Given the description of an element on the screen output the (x, y) to click on. 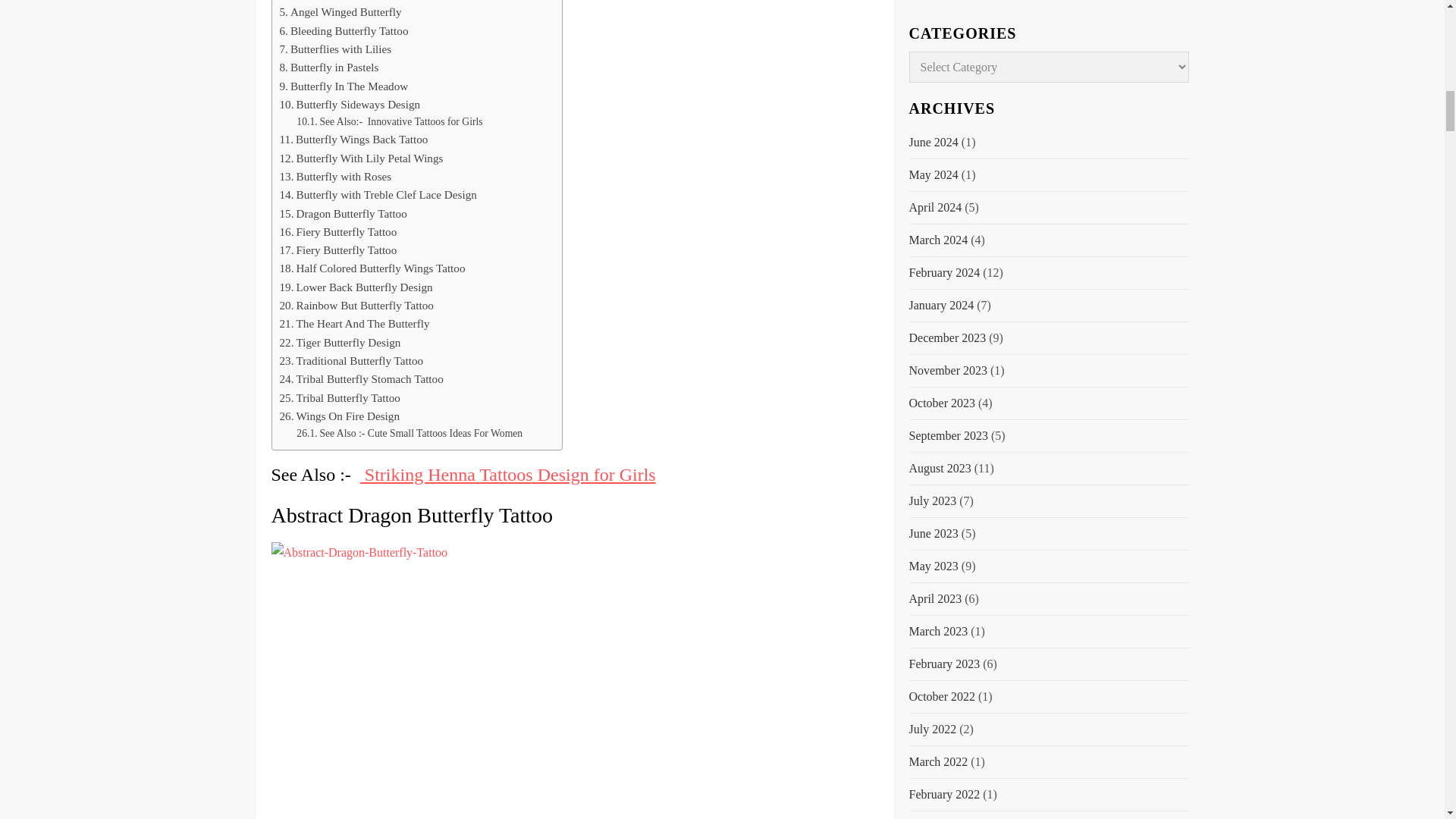
See Also:-  Innovative Tattoos for Girls (389, 121)
Wings On Fire Design (338, 416)
Angel Butterfly Design (338, 1)
The Heart And The Butterfly (354, 323)
Butterfly with Roses (335, 176)
Butterfly in Pastels (328, 67)
Butterfly Sideways Design (349, 104)
Bleeding Butterfly Tattoo (343, 31)
Butterfly With Lily Petal Wings (360, 158)
Angel Butterfly Design (338, 1)
Angel Winged Butterfly (340, 12)
Bleeding Butterfly Tattoo (343, 31)
Half Colored Butterfly Wings Tattoo (371, 268)
Butterfly with Treble Clef Lace Design (377, 194)
Butterfly in Pastels (328, 67)
